Given the description of an element on the screen output the (x, y) to click on. 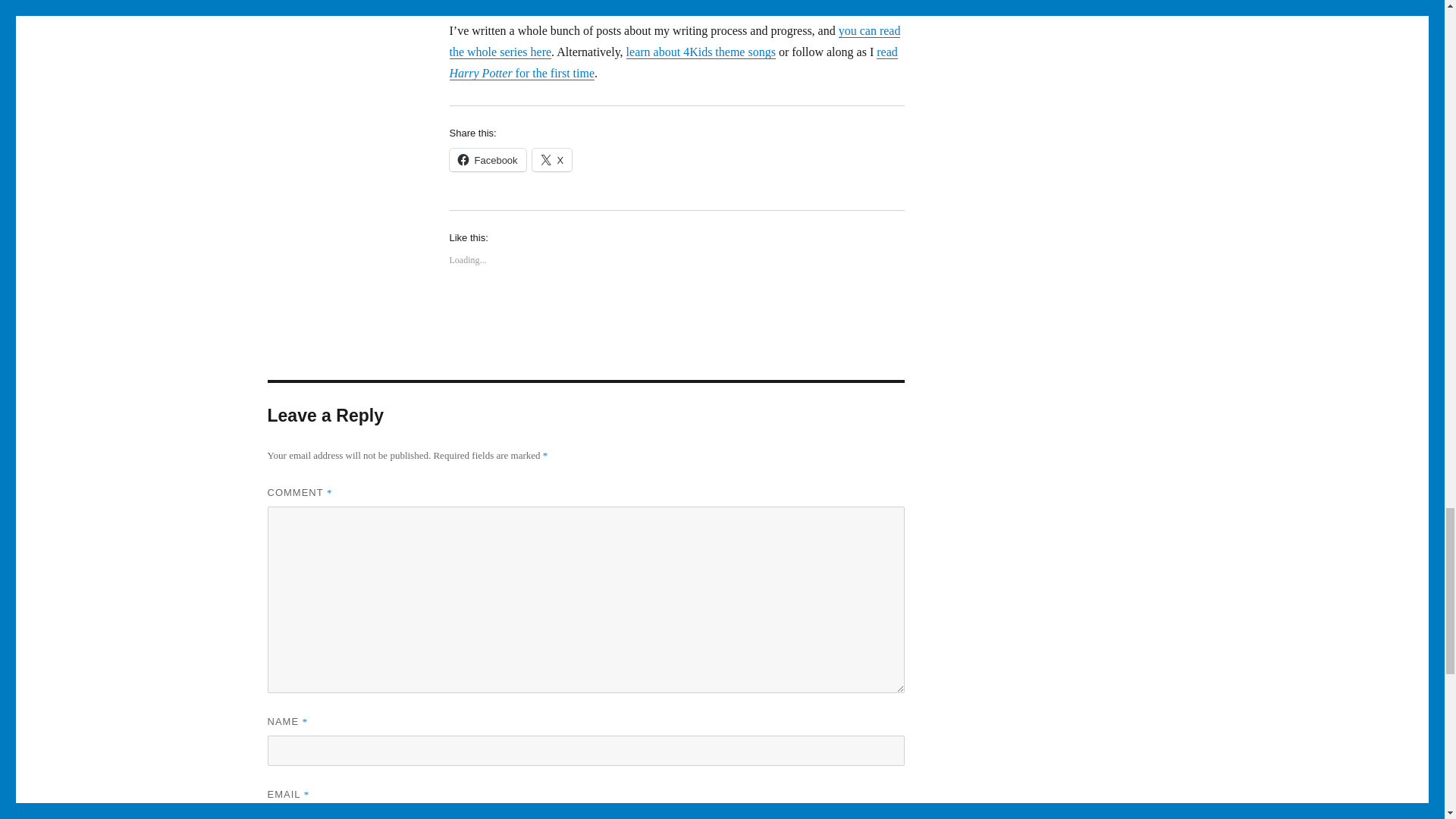
read Harry Potter for the first time (672, 62)
Click to share on Facebook (486, 159)
learn about 4Kids theme songs (701, 51)
Click to share on X (552, 159)
X (552, 159)
Facebook (486, 159)
you can read the whole series here (673, 41)
